Given the description of an element on the screen output the (x, y) to click on. 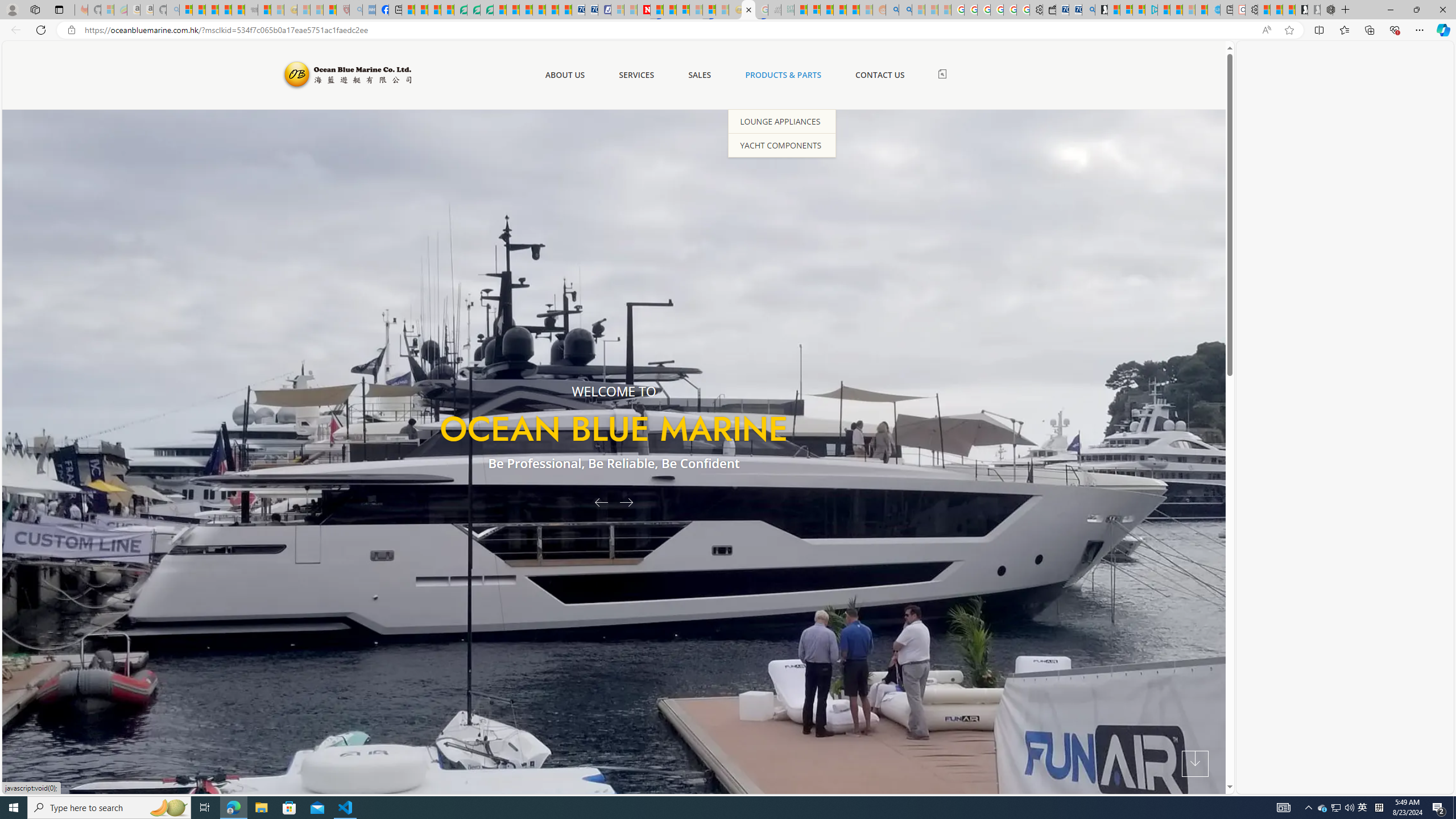
Utah sues federal government - Search (905, 9)
CONTACT US (879, 75)
SALES (699, 75)
